Given the description of an element on the screen output the (x, y) to click on. 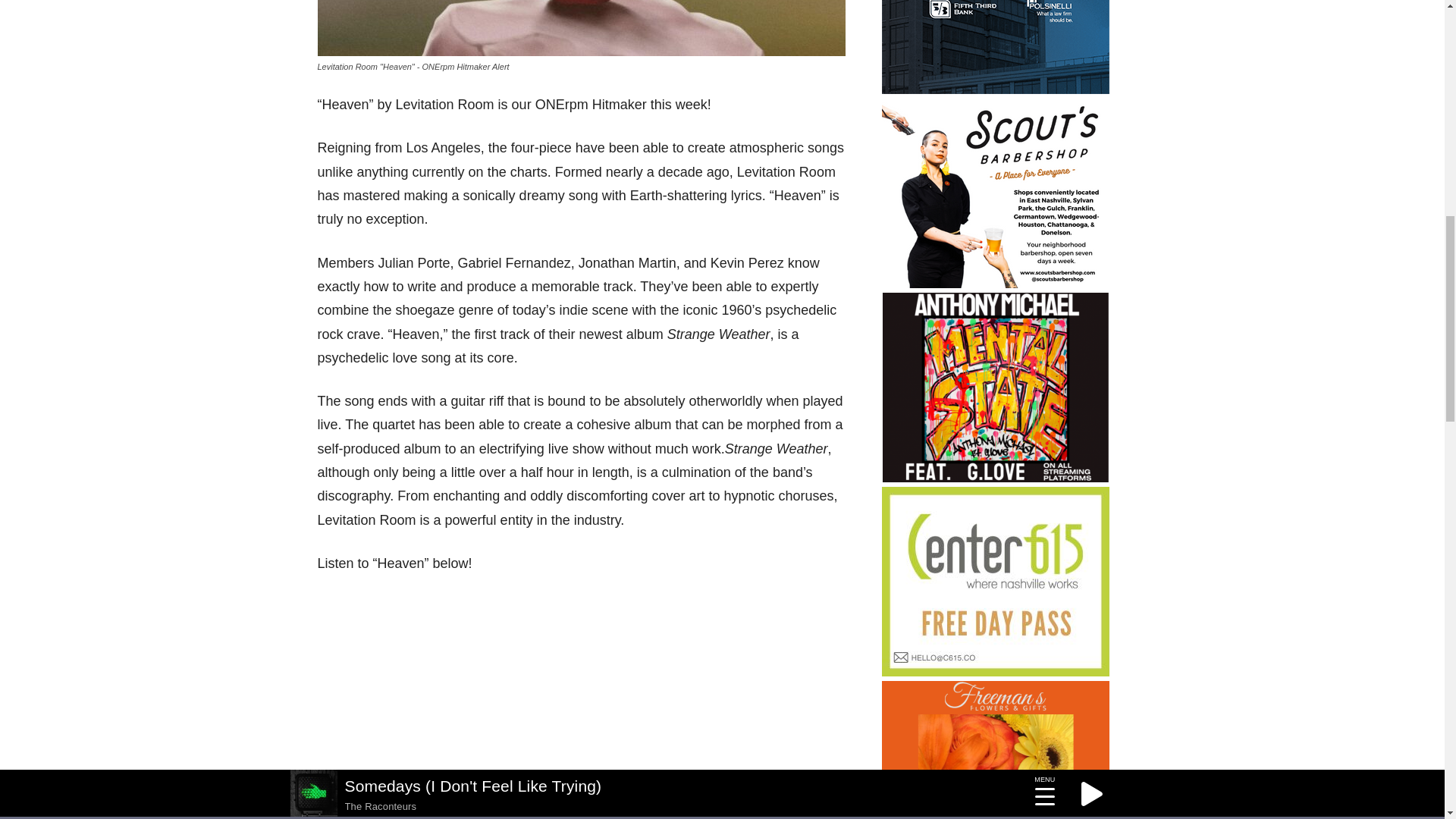
Levitation Room  (580, 28)
